Given the description of an element on the screen output the (x, y) to click on. 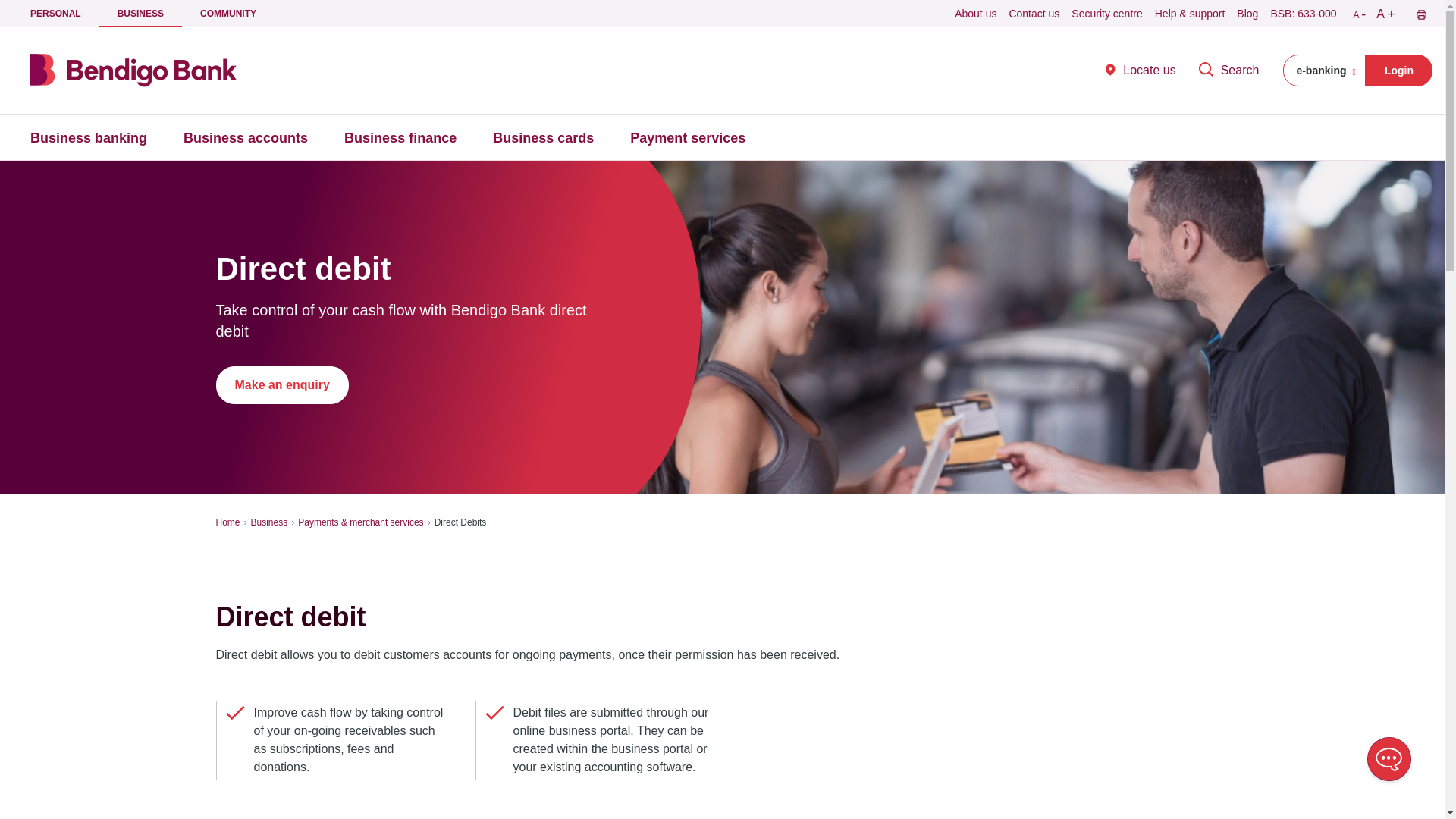
Contact us (1034, 13)
COMMUNITY (228, 13)
Search (1229, 70)
Login (1398, 70)
Blog (1246, 13)
Business finance (400, 136)
PERSONAL (1323, 70)
Locate us (55, 13)
Business banking (1141, 70)
About us (88, 136)
Business cards (976, 13)
Business accounts (542, 136)
Security centre (245, 136)
Increase font size (1106, 13)
